Given the description of an element on the screen output the (x, y) to click on. 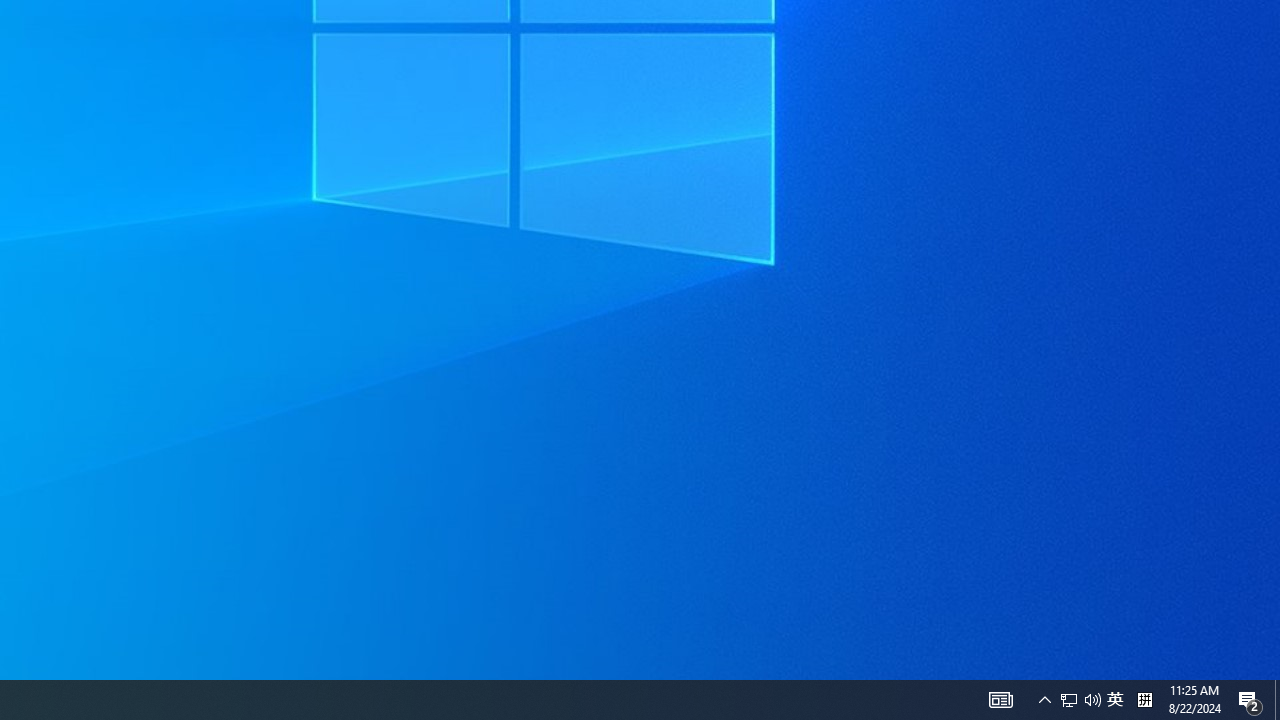
Notification Chevron (1115, 699)
User Promoted Notification Area (1044, 699)
Tray Input Indicator - Chinese (Simplified, China) (1080, 699)
Show desktop (1144, 699)
Action Center, 2 new notifications (1069, 699)
AutomationID: 4105 (1277, 699)
Q2790: 100% (1250, 699)
